Given the description of an element on the screen output the (x, y) to click on. 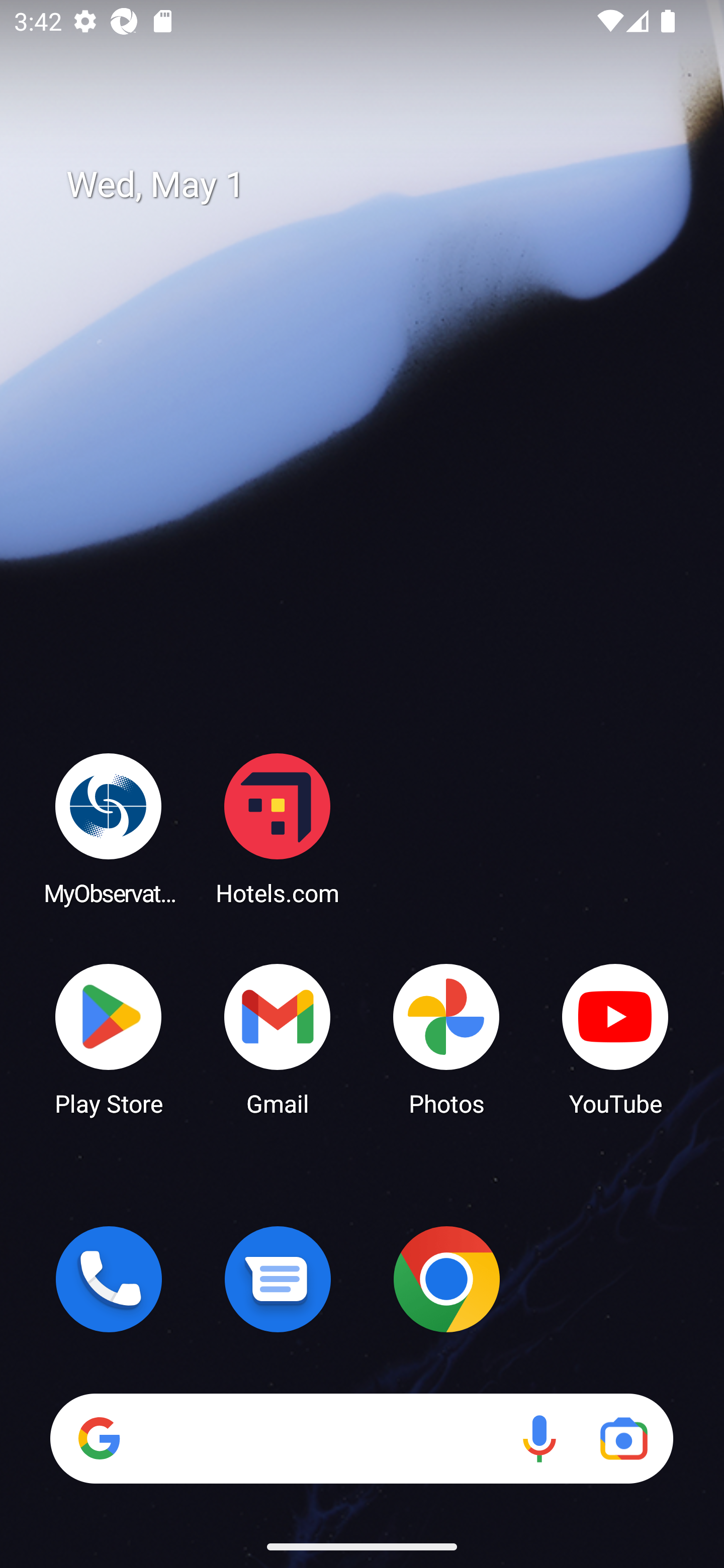
Wed, May 1 (375, 184)
MyObservatory (108, 828)
Hotels.com (277, 828)
Play Store (108, 1038)
Gmail (277, 1038)
Photos (445, 1038)
YouTube (615, 1038)
Phone (108, 1279)
Messages (277, 1279)
Chrome (446, 1279)
Search Voice search Google Lens (361, 1438)
Voice search (539, 1438)
Google Lens (623, 1438)
